Given the description of an element on the screen output the (x, y) to click on. 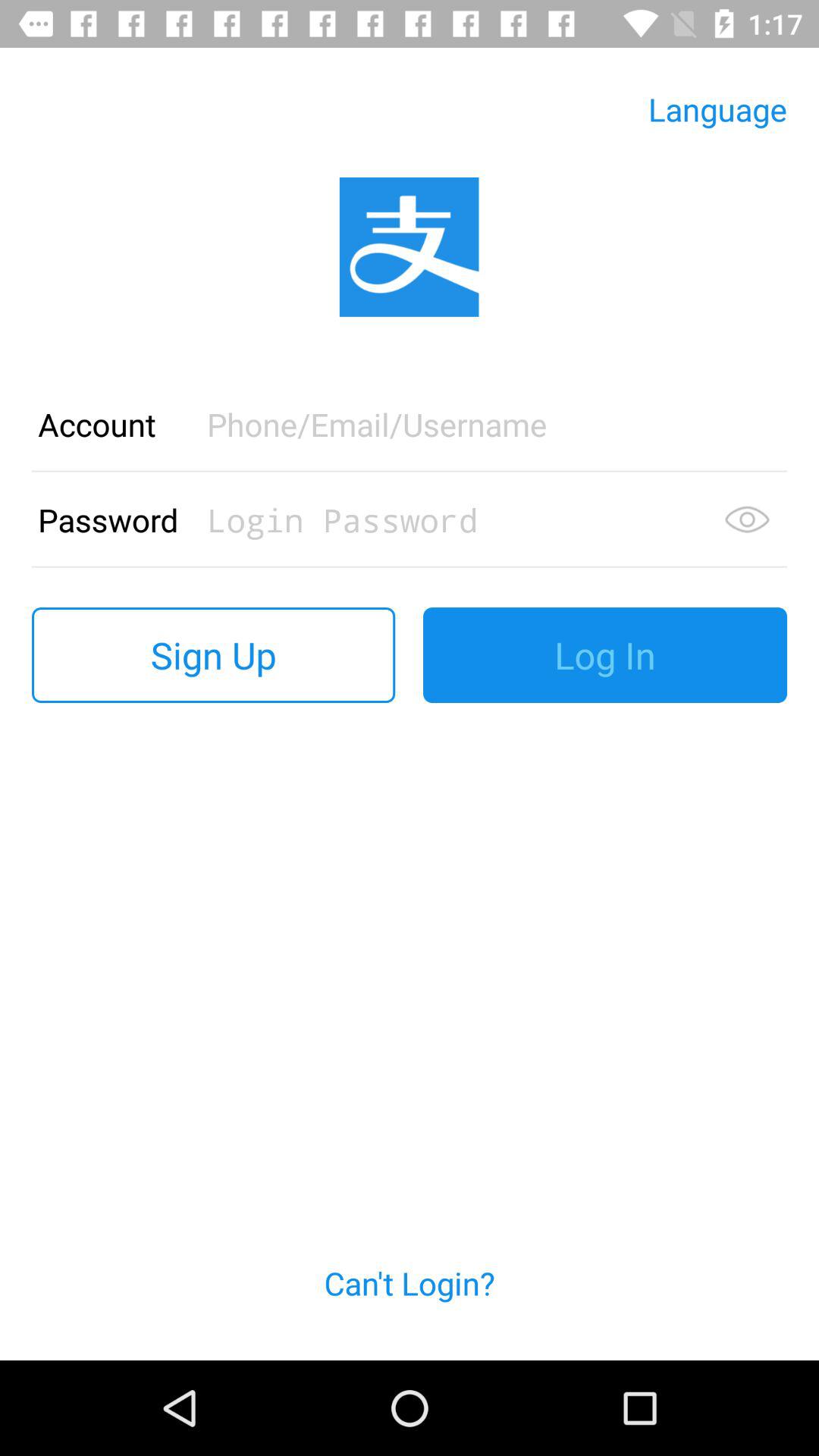
click language icon (717, 108)
